Given the description of an element on the screen output the (x, y) to click on. 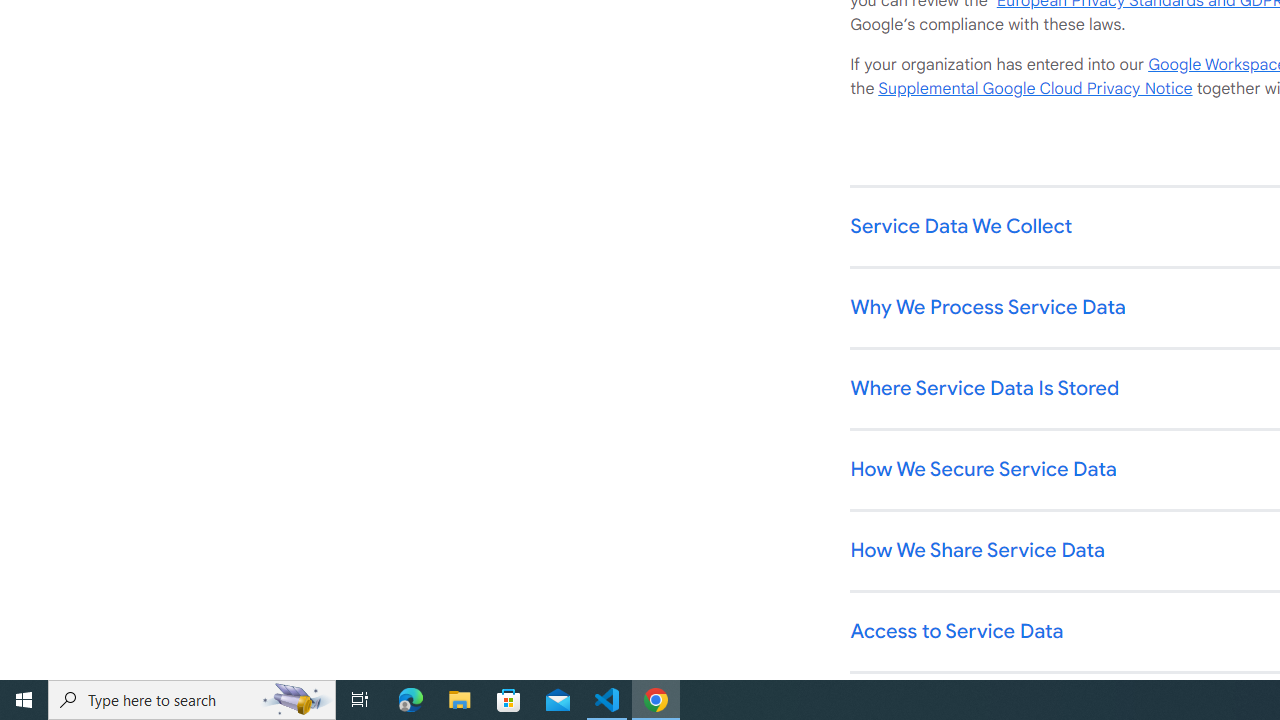
Supplemental Google Cloud Privacy Notice (1035, 89)
